Given the description of an element on the screen output the (x, y) to click on. 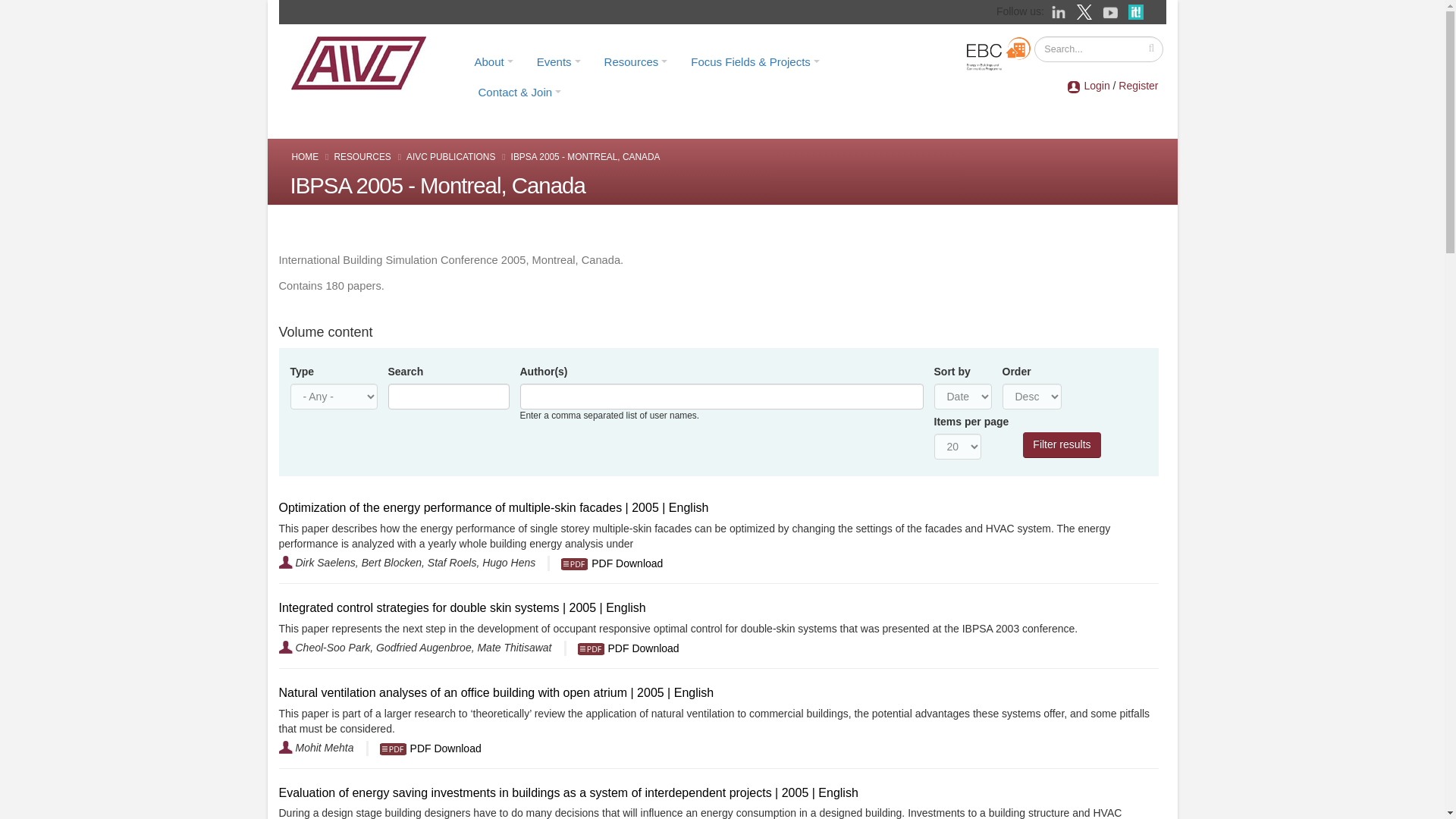
About AIVC (493, 61)
Events (559, 61)
About (493, 61)
Filter results (1061, 444)
Home (362, 61)
Go to AIVC LinkedIn page (1059, 10)
Go to AIVC twitter page (1086, 10)
Login (1096, 85)
Go to AIVC YouTube page (1111, 10)
Resources (636, 61)
